Given the description of an element on the screen output the (x, y) to click on. 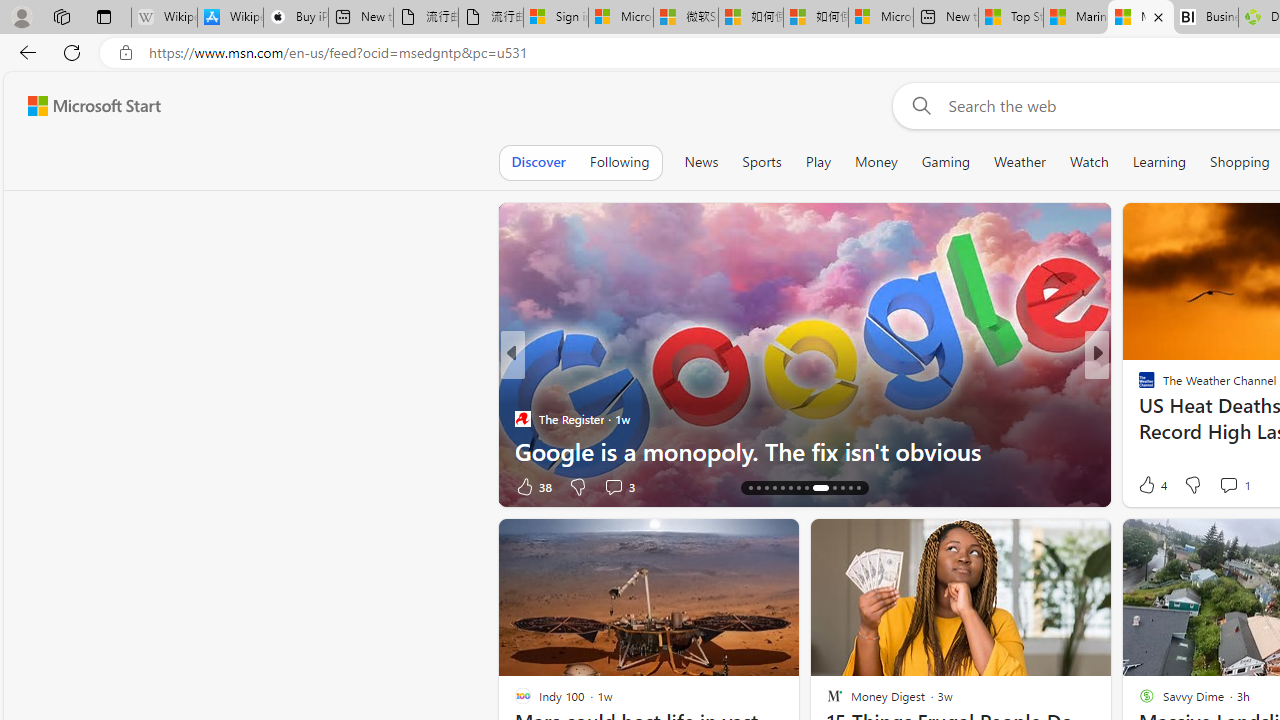
View comments 3 Comment (1241, 486)
The Cool Down (1138, 386)
View comments 35 Comment (1244, 486)
AutomationID: tab-25 (850, 487)
View comments 2 Comment (1229, 485)
AutomationID: tab-15 (757, 487)
View comments 11 Comment (11, 485)
